Given the description of an element on the screen output the (x, y) to click on. 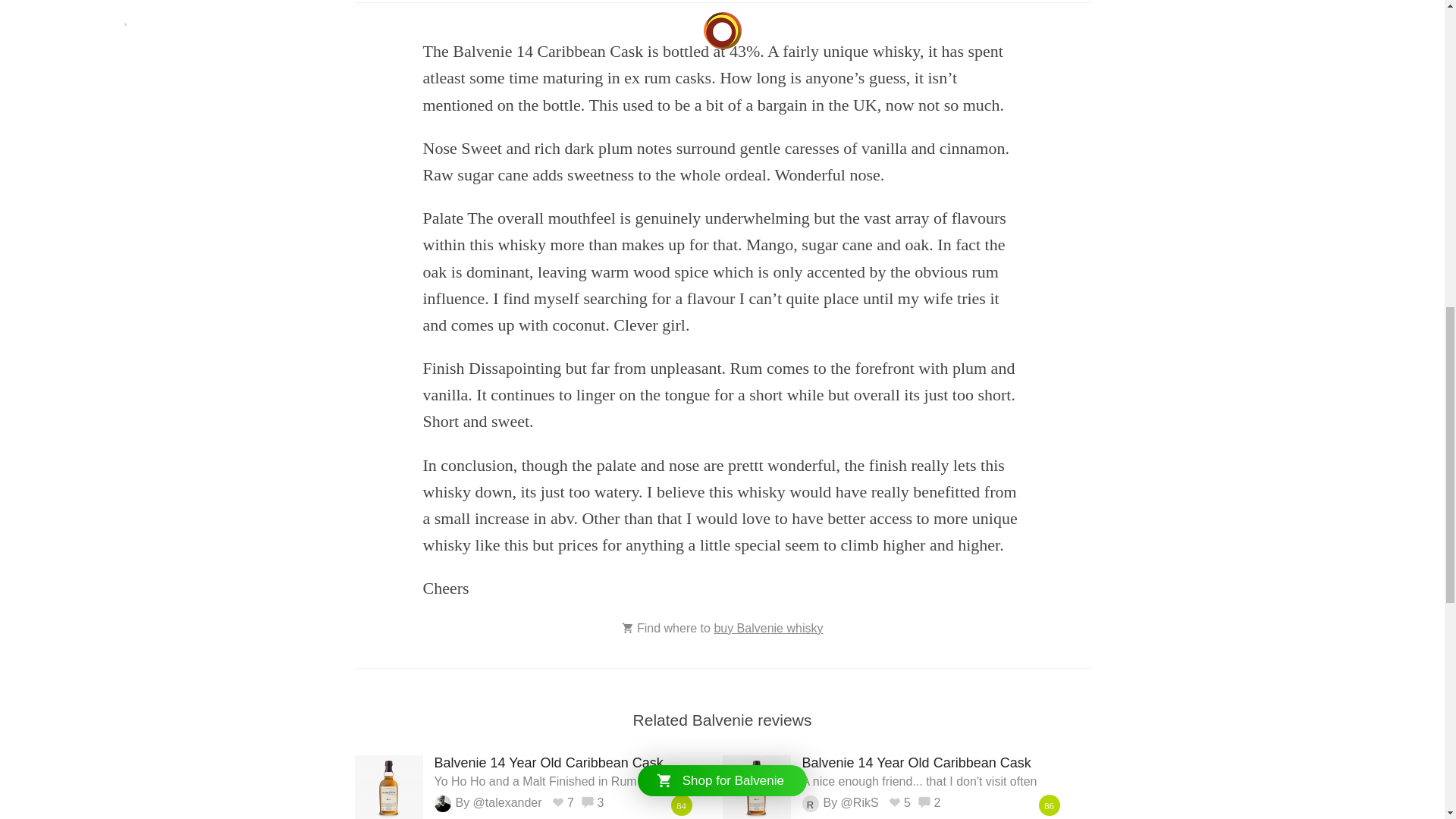
R (810, 803)
buy Balvenie whisky (767, 627)
